Given the description of an element on the screen output the (x, y) to click on. 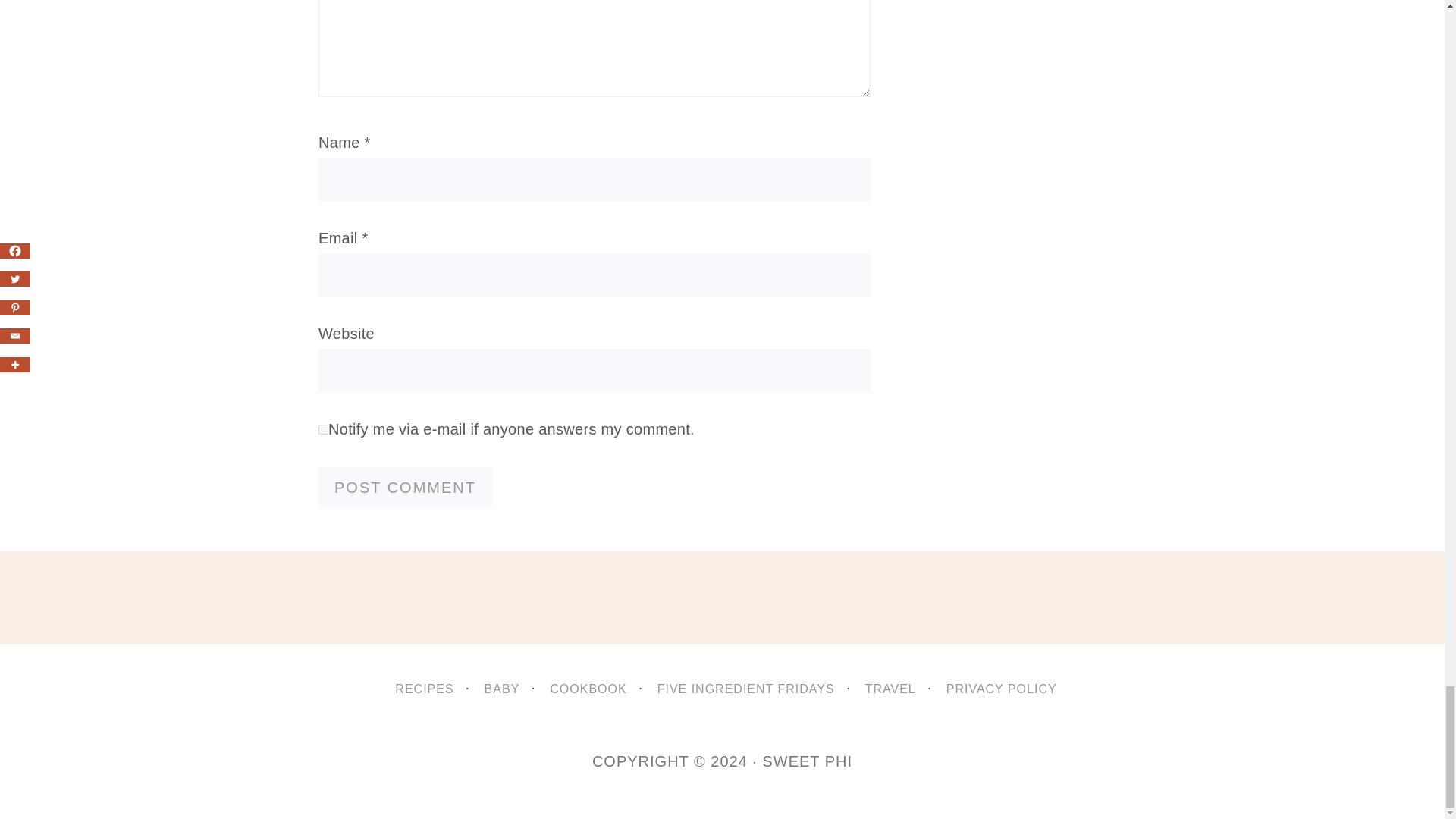
Post Comment (405, 486)
on (323, 429)
